Given the description of an element on the screen output the (x, y) to click on. 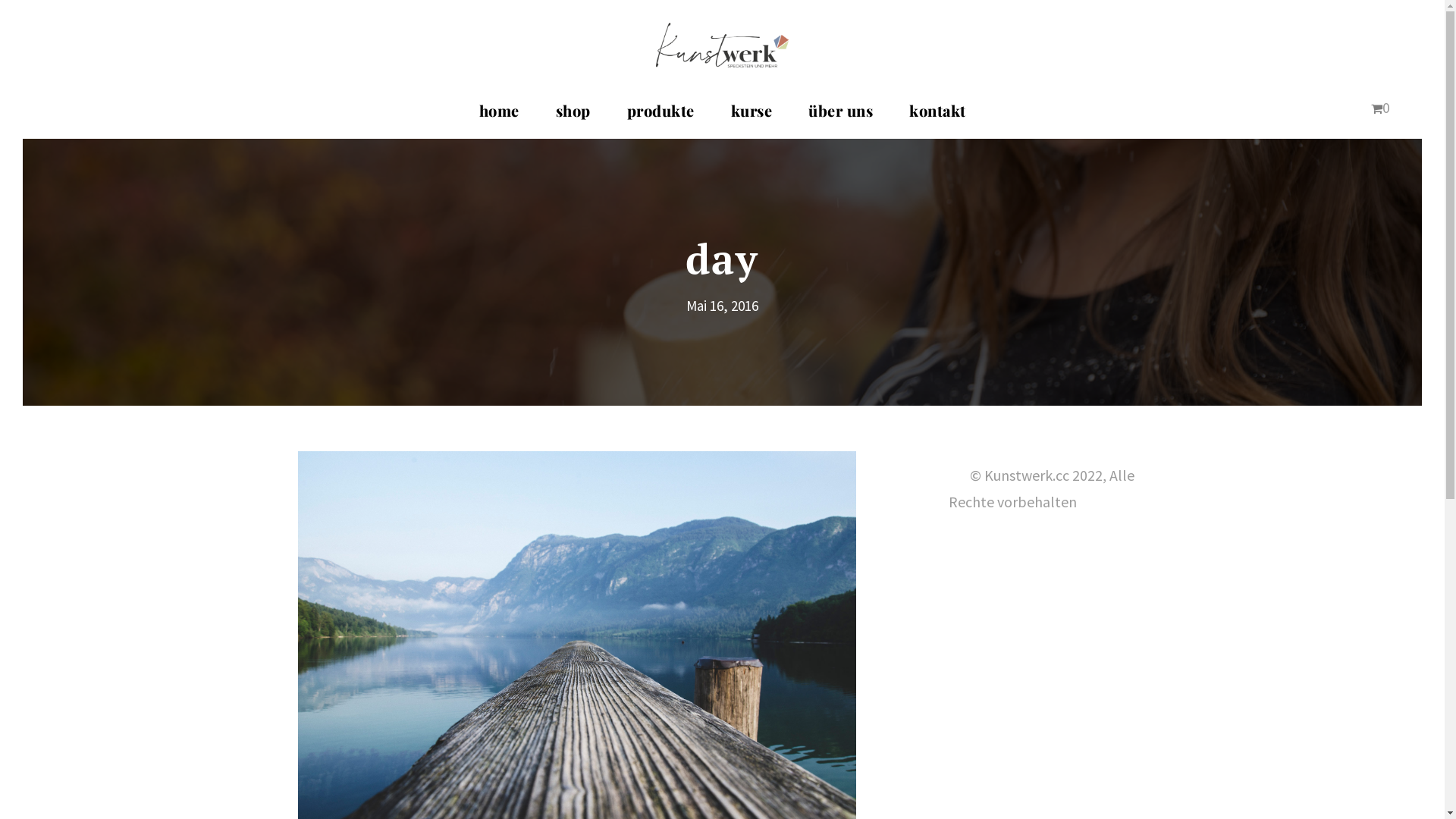
KW_web Element type: hover (721, 44)
produkte Element type: text (659, 117)
shop Element type: text (572, 117)
kurse Element type: text (751, 117)
kontakt Element type: text (937, 117)
home Element type: text (499, 117)
